Given the description of an element on the screen output the (x, y) to click on. 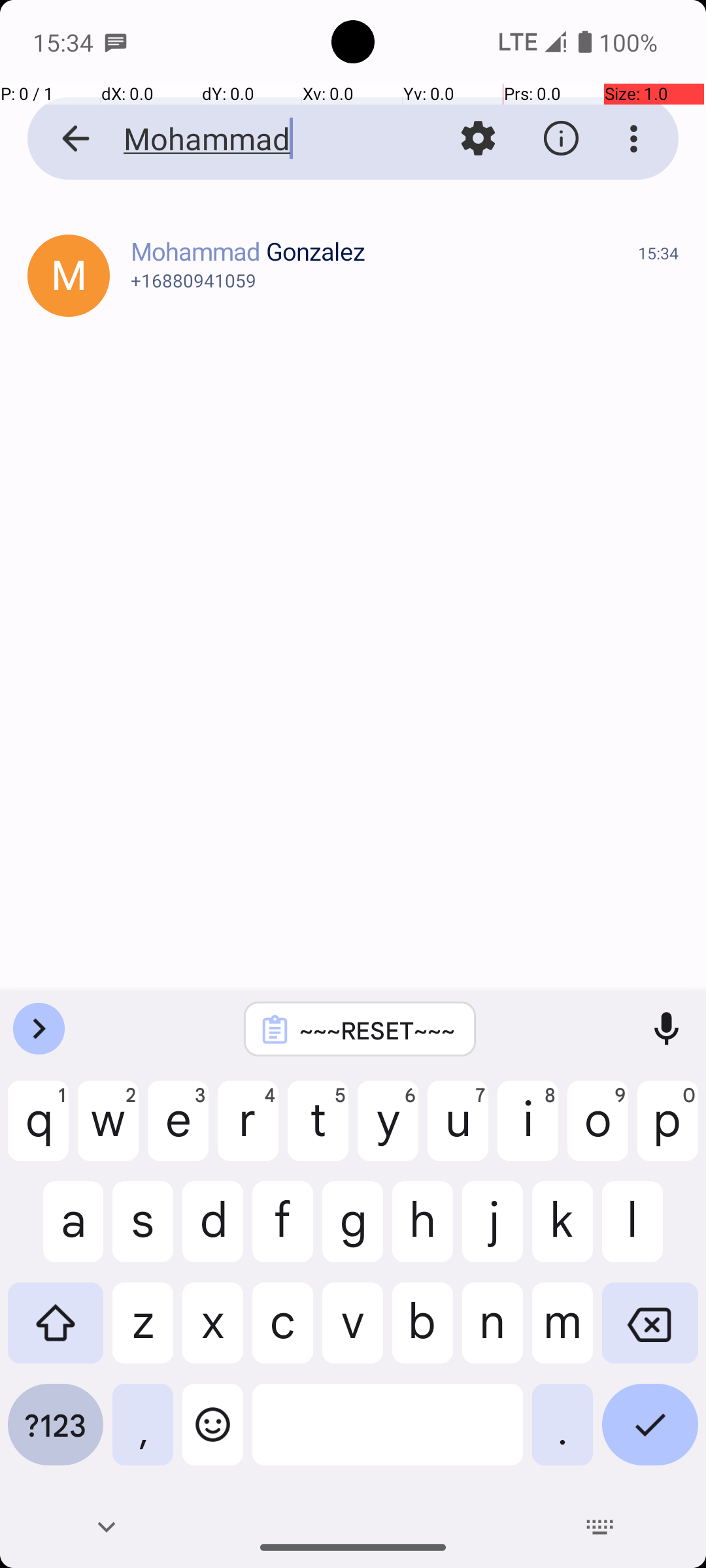
Mohammad Element type: android.widget.EditText (252, 138)
Mohammad Gonzalez Element type: android.widget.TextView (384, 250)
+16880941059 Element type: android.widget.TextView (404, 279)
1819 Birch Ct, Dover, DE, 19901 Element type: android.widget.TextView (408, 266)
SMS Messenger notification: Mohammad Gonzalez Element type: android.widget.ImageView (115, 41)
